Given the description of an element on the screen output the (x, y) to click on. 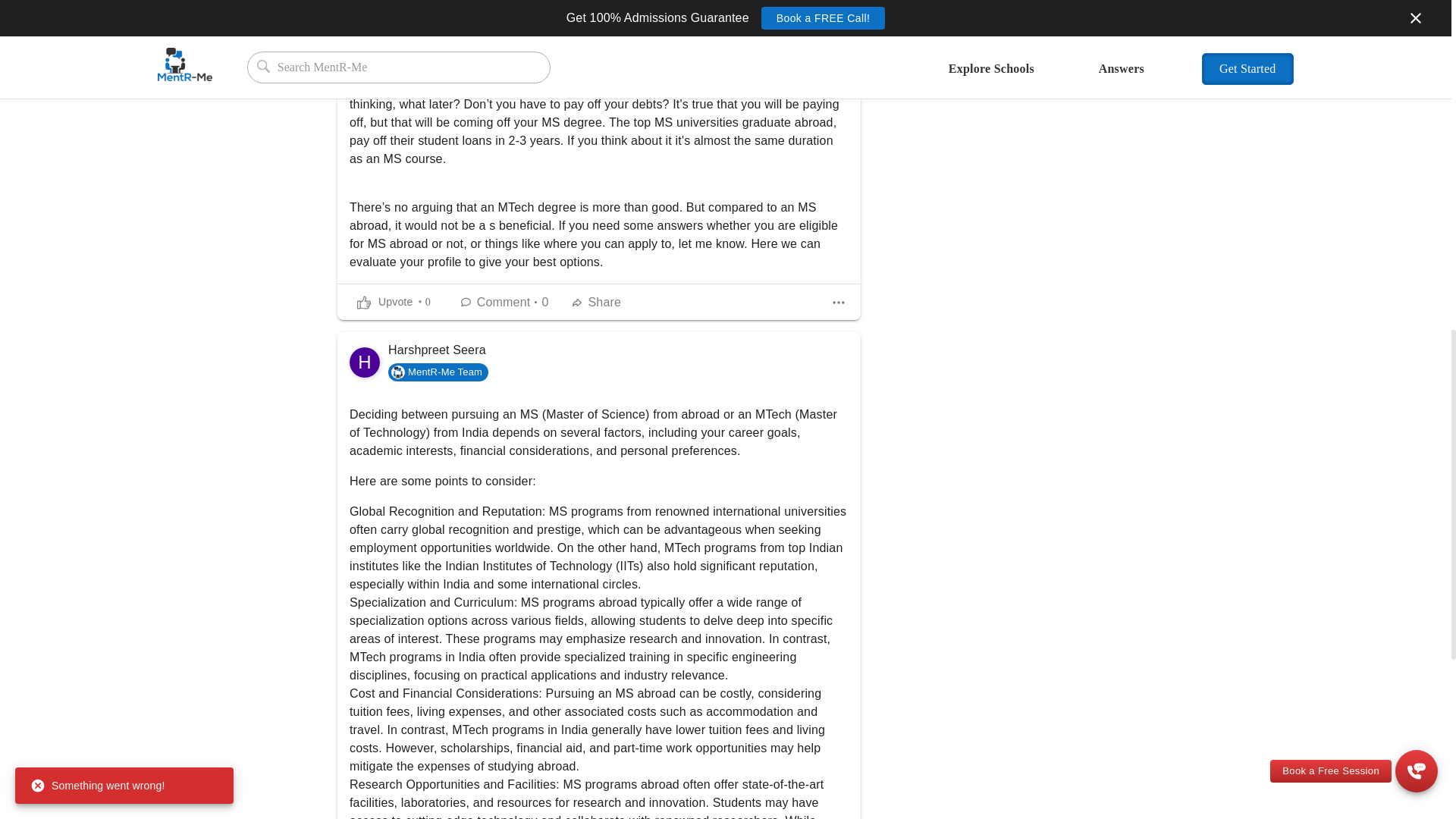
Let your friends know about your latest discovery (598, 302)
H (364, 362)
Harshpreet  Seera (364, 362)
Add a comment to express your opinion (504, 302)
Harshpreet Seera (437, 349)
Tap if the answer helped (393, 301)
